Given the description of an element on the screen output the (x, y) to click on. 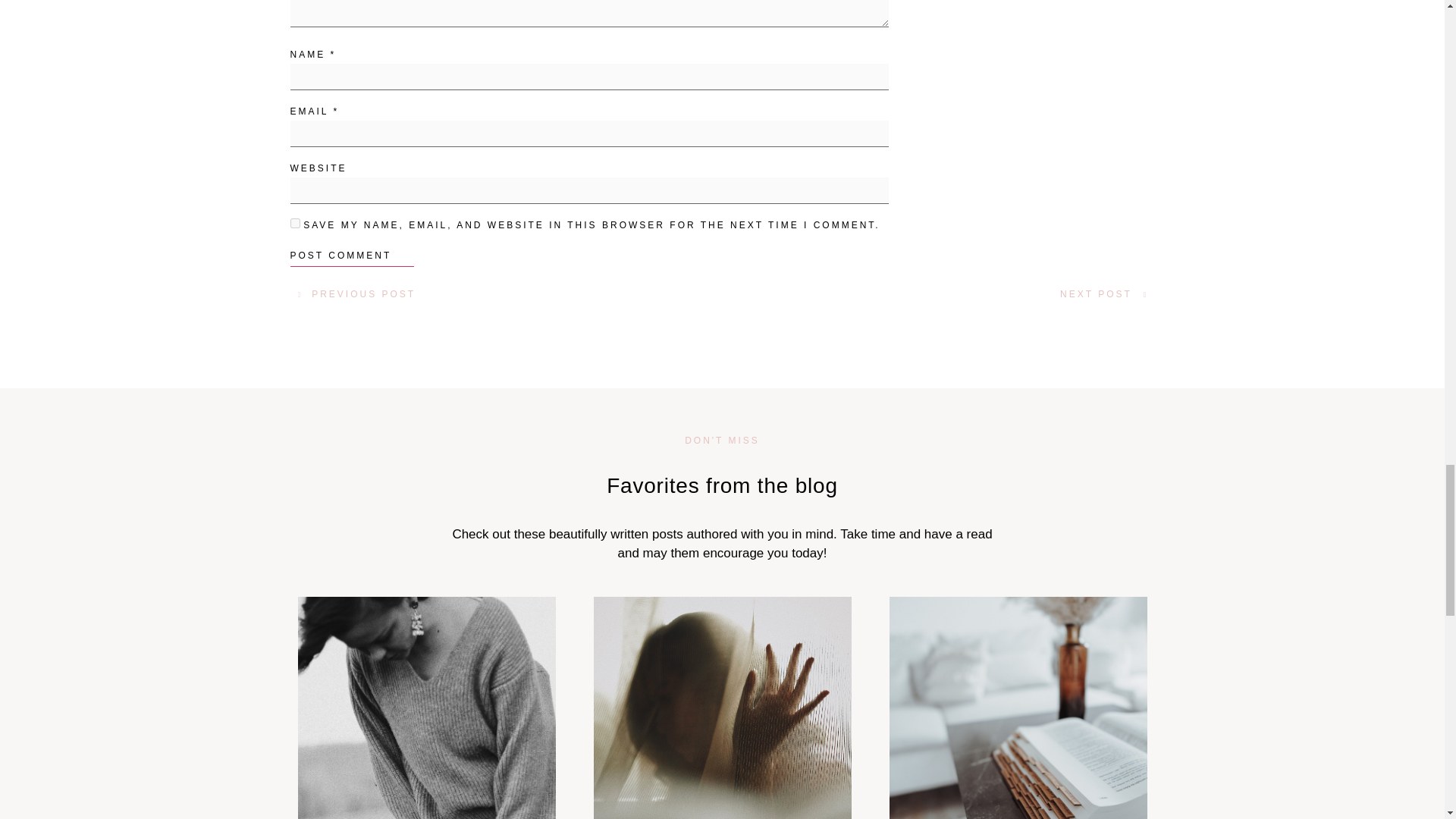
yes (294, 223)
Post Comment (351, 257)
Post Comment (351, 257)
